Given the description of an element on the screen output the (x, y) to click on. 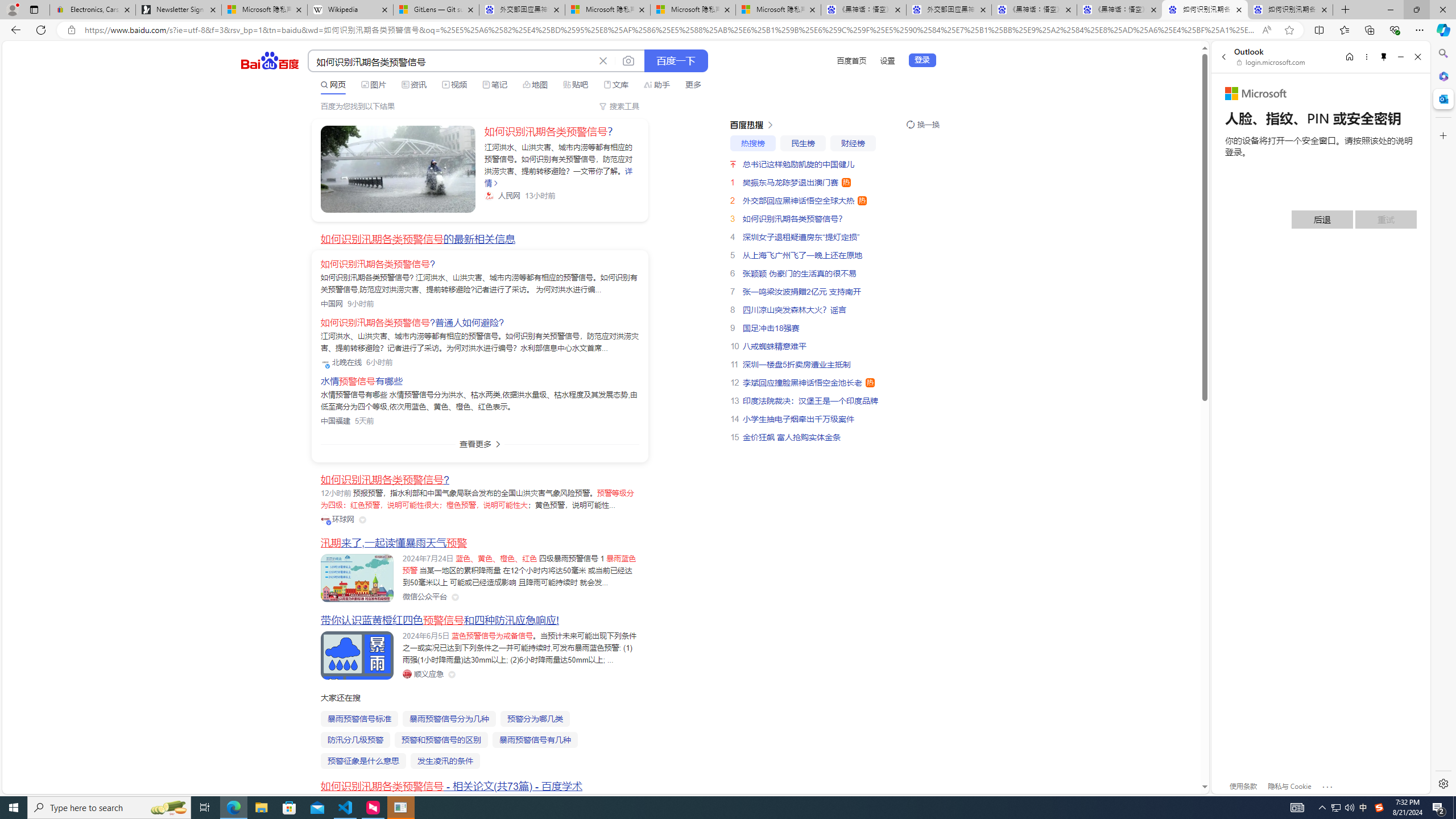
Class: vip-icon_kNmNt (328, 522)
